Given the description of an element on the screen output the (x, y) to click on. 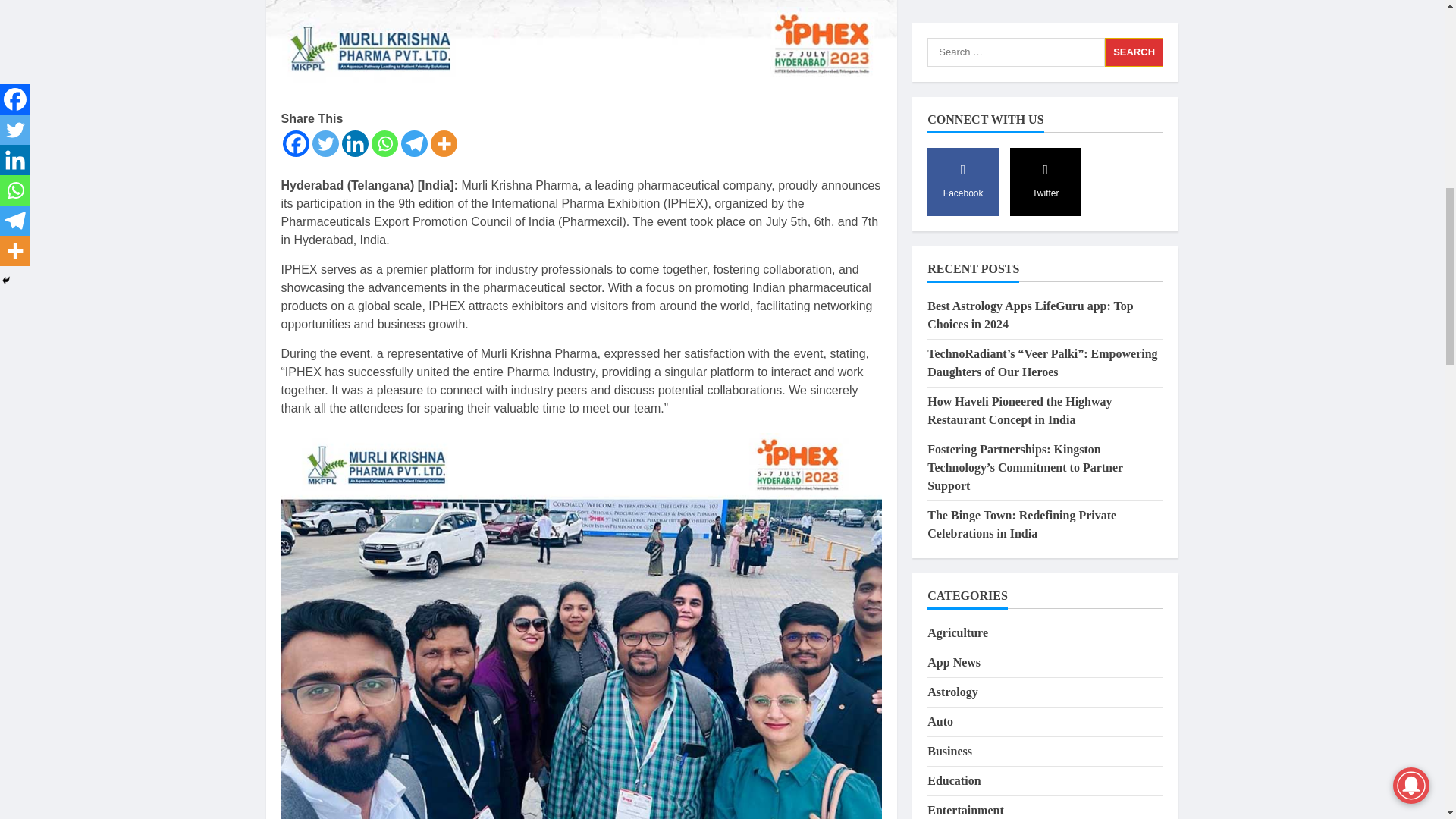
Linkedin (354, 143)
Twitter (326, 143)
Telegram (413, 143)
More (443, 143)
Facebook (295, 143)
Whatsapp (384, 143)
